Given the description of an element on the screen output the (x, y) to click on. 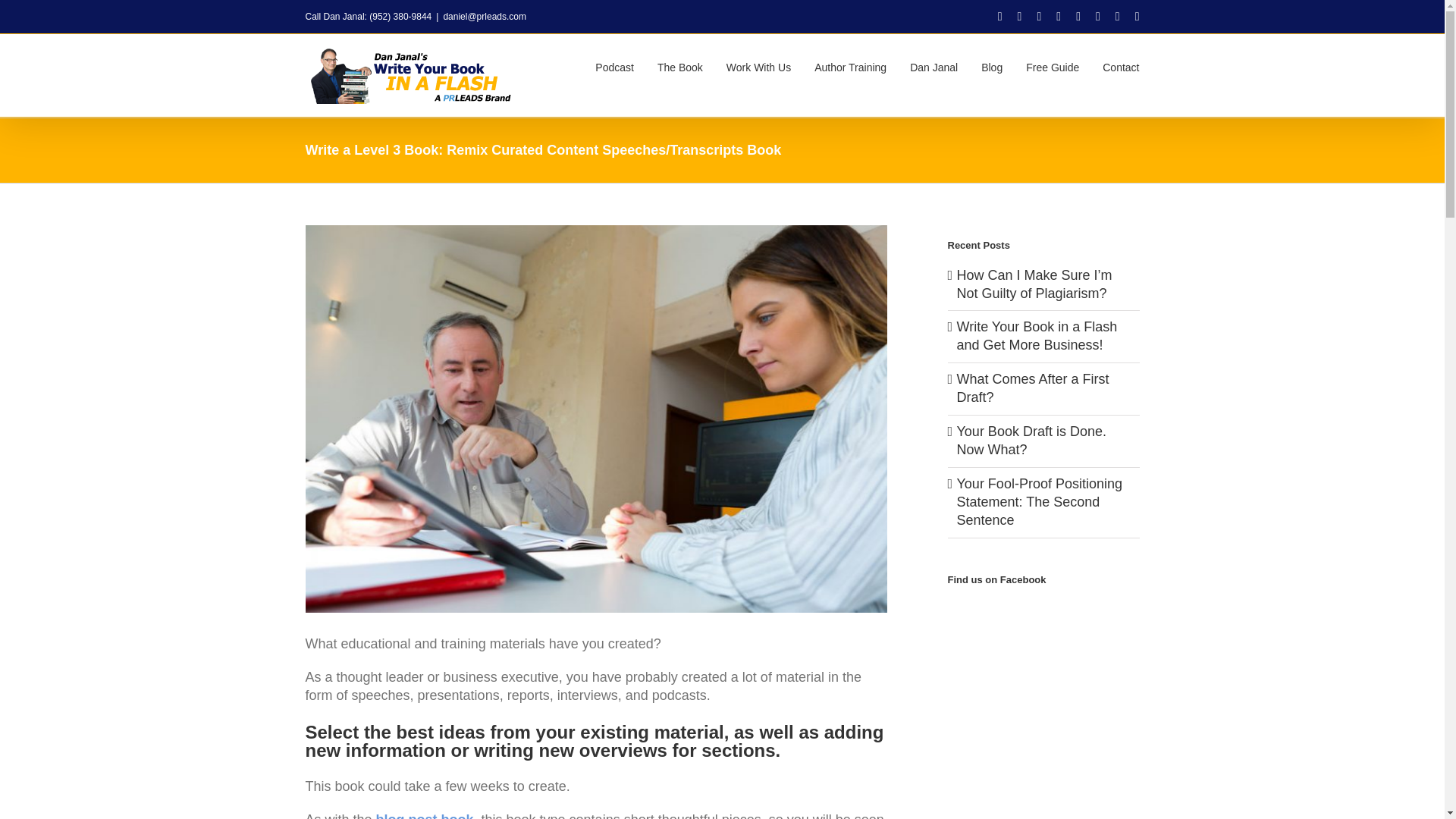
blog post book (424, 815)
Author Training (849, 65)
Work With Us (758, 65)
